Given the description of an element on the screen output the (x, y) to click on. 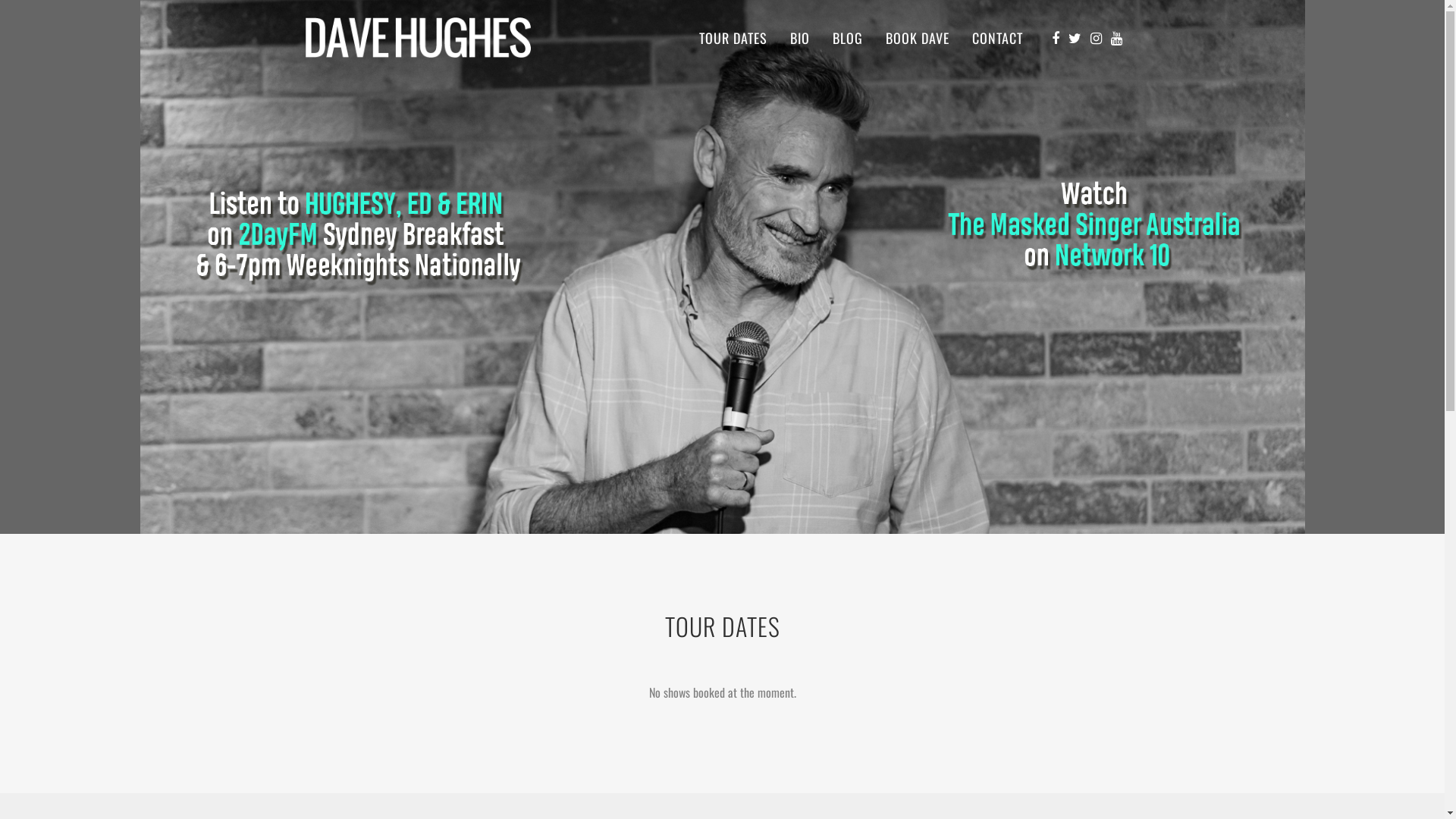
CONTACT Element type: text (996, 37)
TOUR DATES Element type: text (732, 37)
BOOK DAVE Element type: text (916, 37)
BLOG Element type: text (846, 37)
HUGHSY_HOMEPAGE Element type: hover (721, 266)
BIO Element type: text (799, 37)
